Given the description of an element on the screen output the (x, y) to click on. 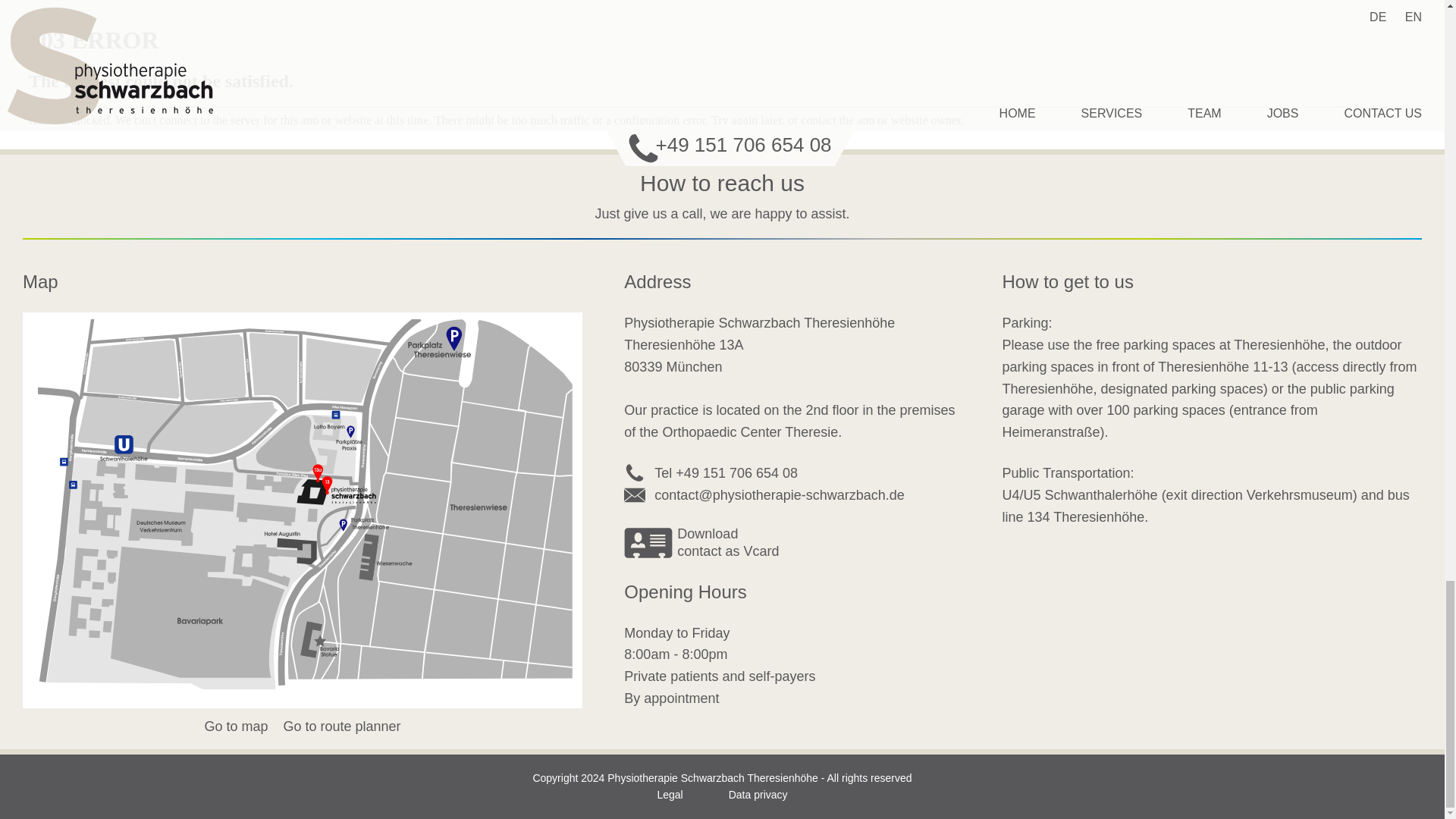
Legal (668, 794)
Go to map (235, 726)
Data privacy (701, 543)
Go to route planner (758, 794)
Data privacy (341, 726)
Legal (758, 794)
